Given the description of an element on the screen output the (x, y) to click on. 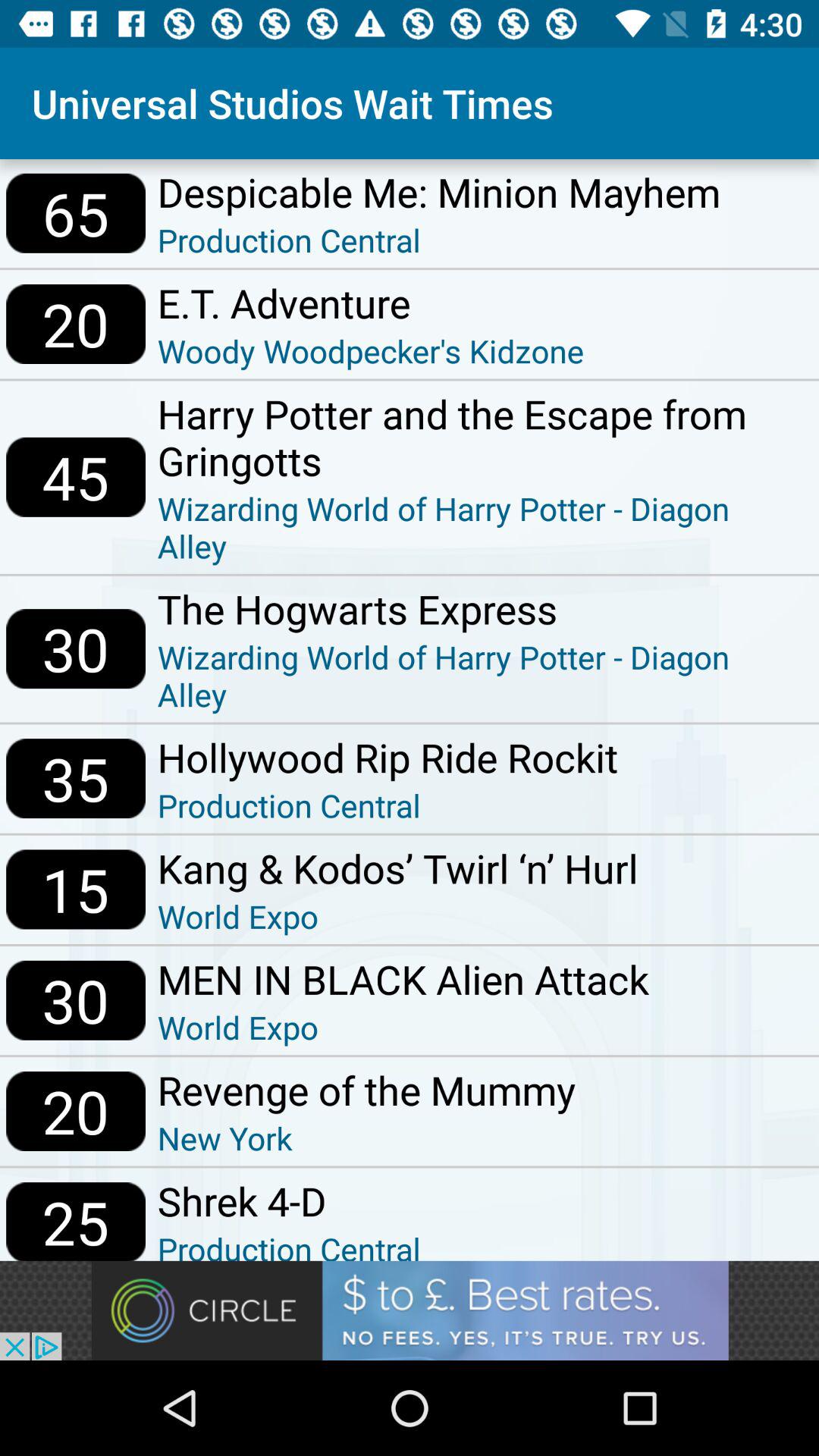
open item next to hollywood rip ride icon (75, 778)
